Given the description of an element on the screen output the (x, y) to click on. 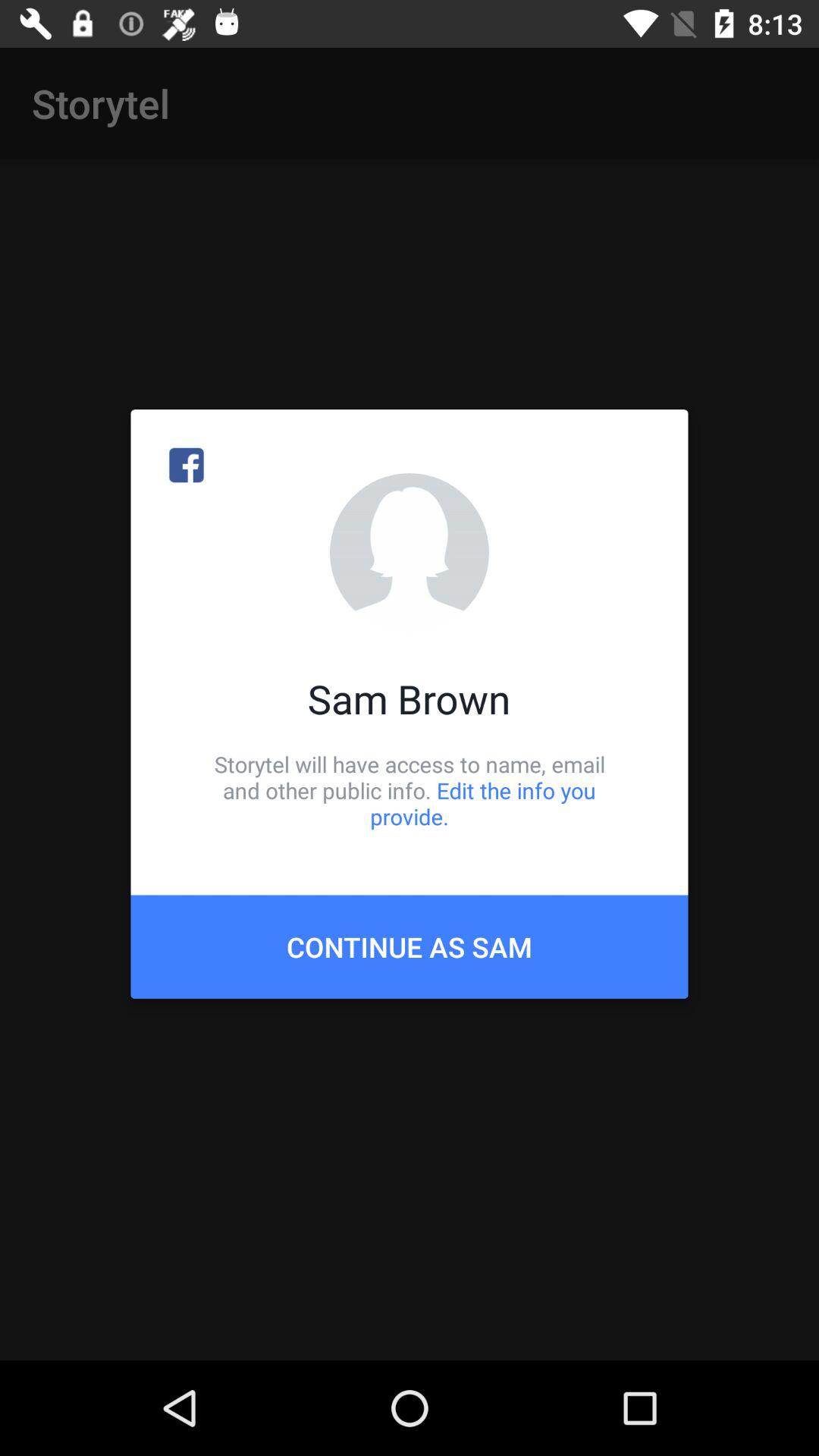
swipe until the continue as sam item (409, 946)
